Given the description of an element on the screen output the (x, y) to click on. 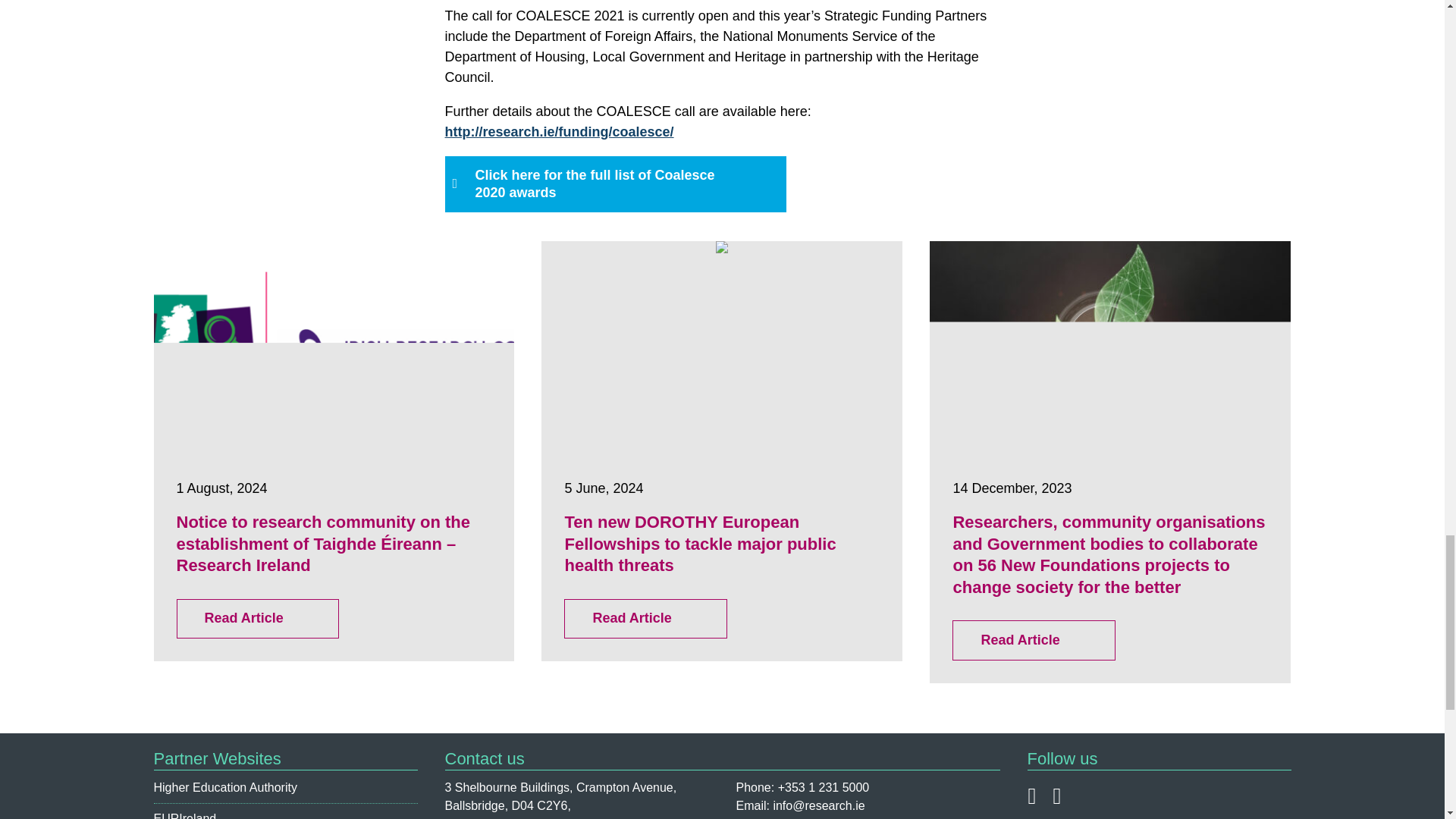
Click here for the full list of Coalesce 2020 awards (615, 184)
Read Article (256, 618)
Read Article (645, 618)
Read Article (1033, 639)
